Given the description of an element on the screen output the (x, y) to click on. 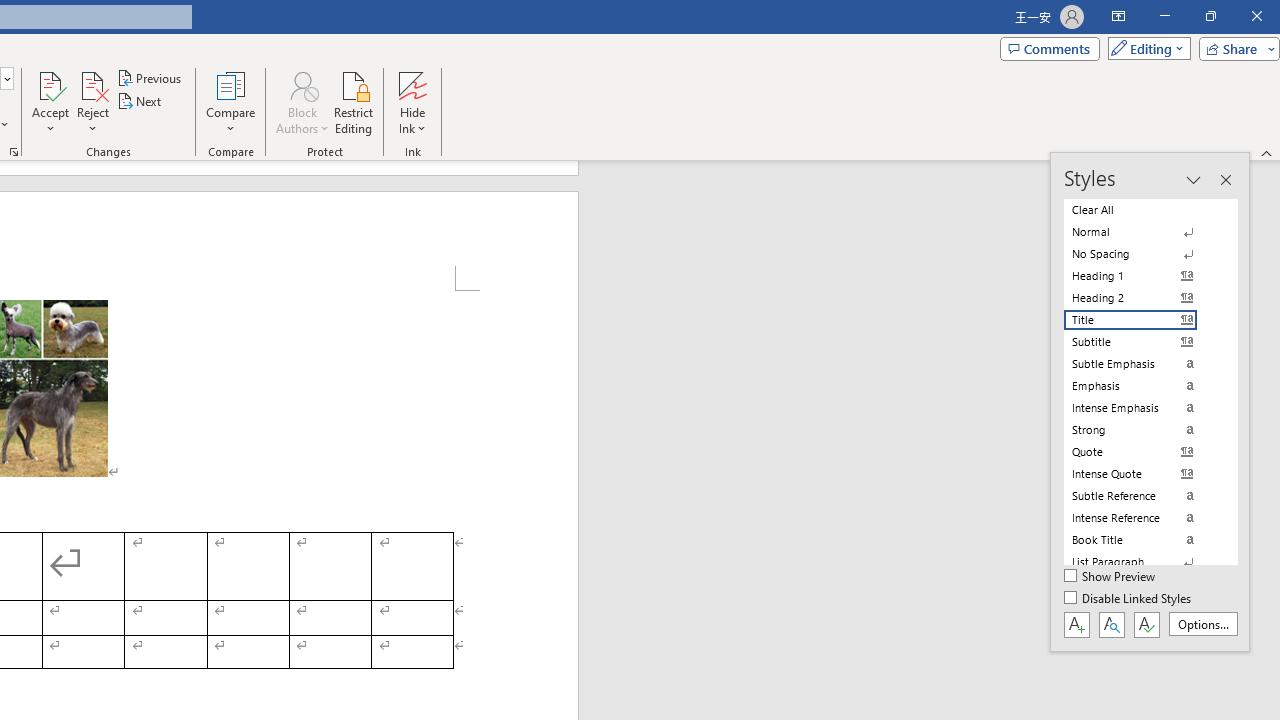
Compare (230, 102)
Reject (92, 102)
Options... (1202, 623)
Quote (1142, 451)
